Given the description of an element on the screen output the (x, y) to click on. 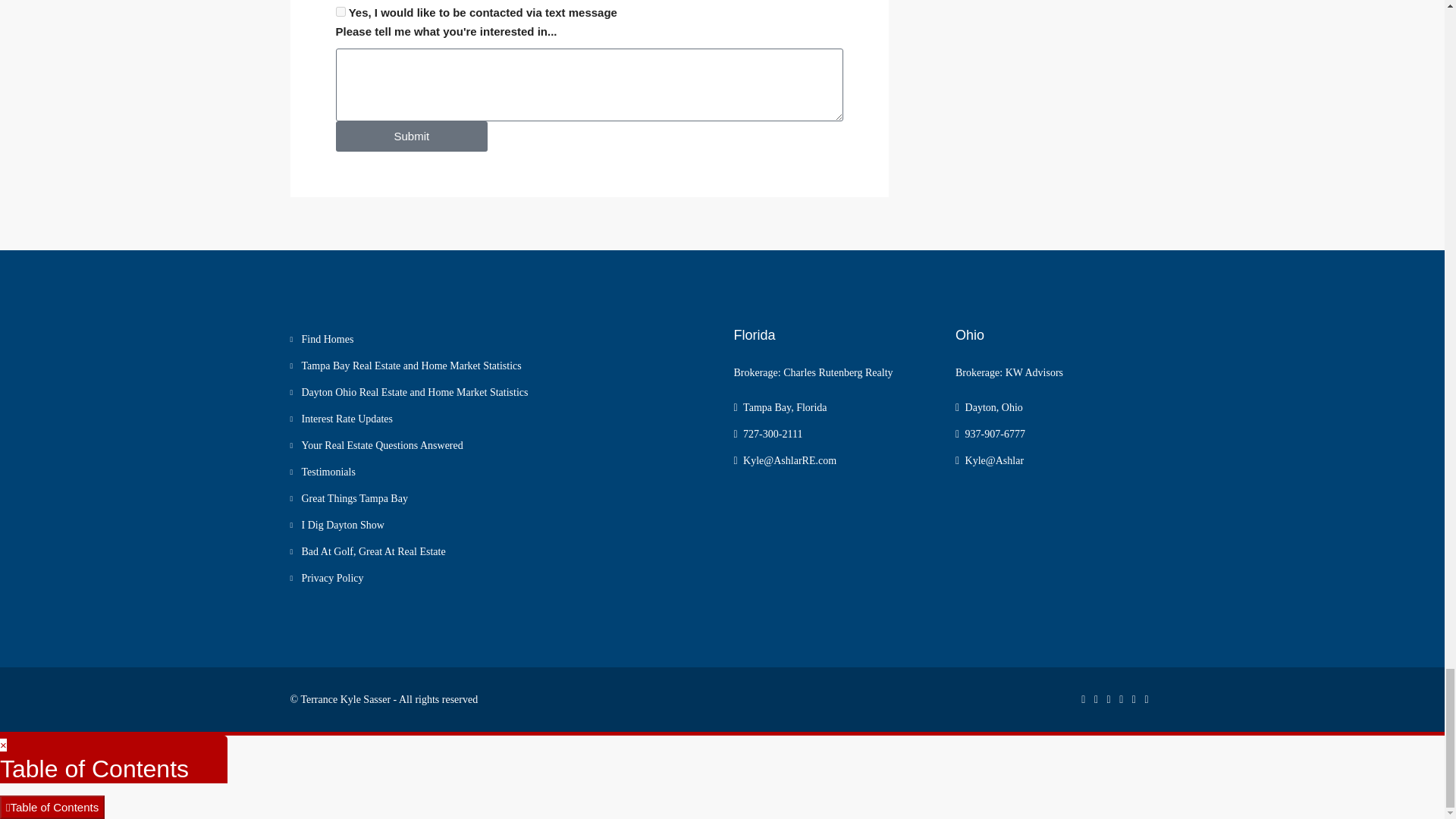
Yes, I would like to be contacted via text message (339, 11)
